Given the description of an element on the screen output the (x, y) to click on. 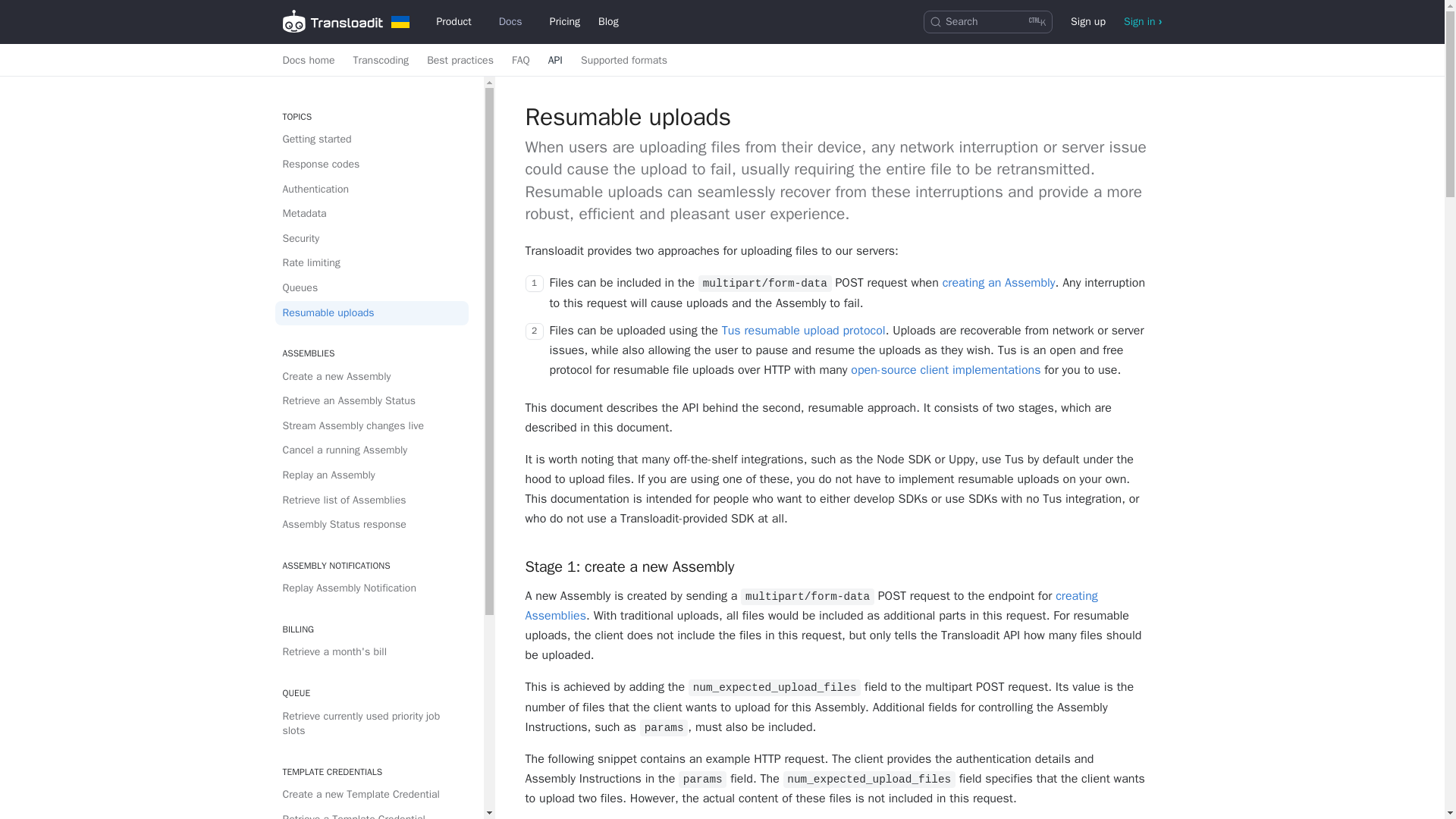
Transcoding (381, 60)
Product (458, 22)
Sign in (1143, 22)
Pricing (987, 21)
Docs (564, 22)
Docs home (514, 22)
Sign up (308, 60)
